Given the description of an element on the screen output the (x, y) to click on. 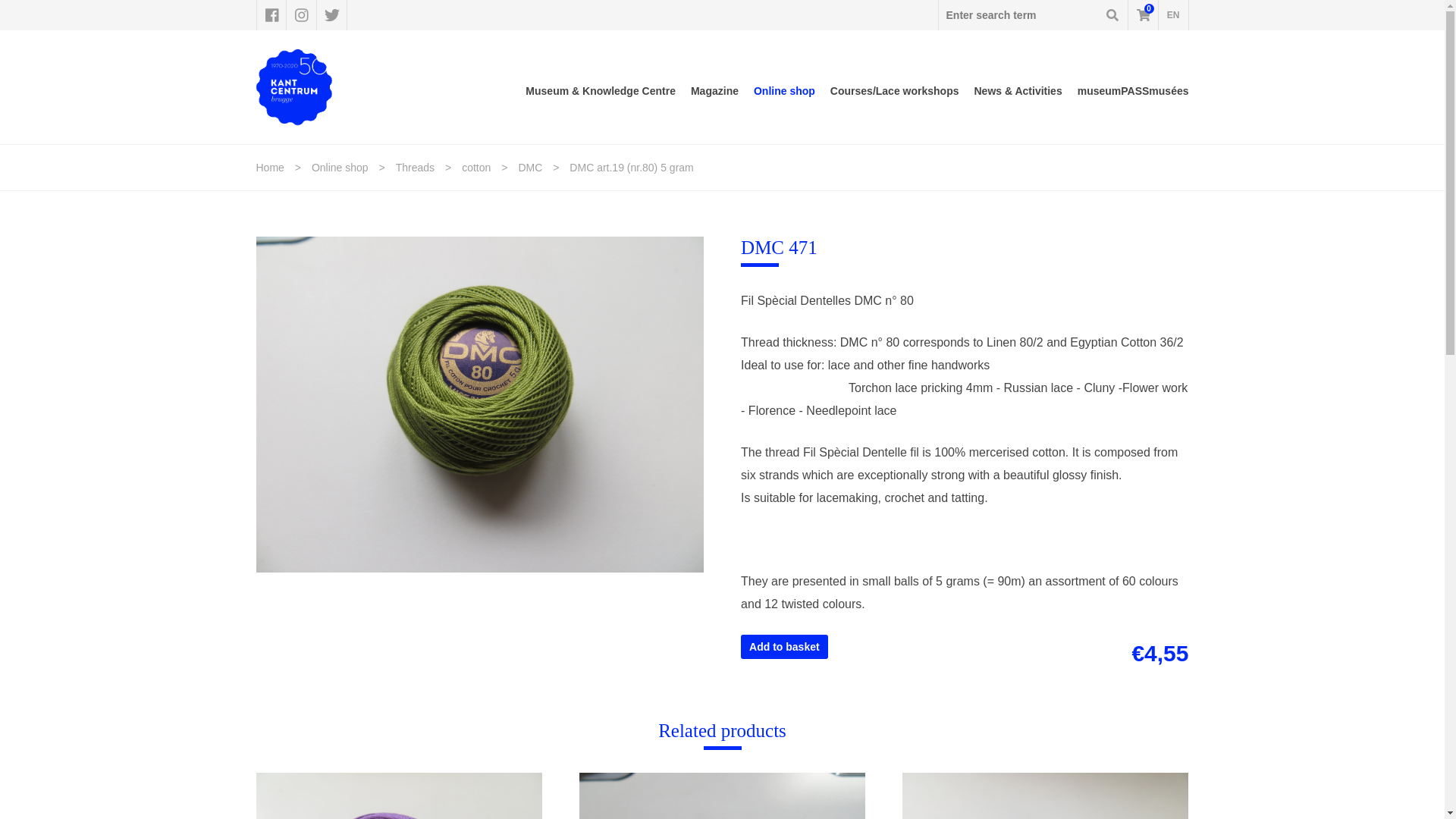
EN (1173, 15)
